Given the description of an element on the screen output the (x, y) to click on. 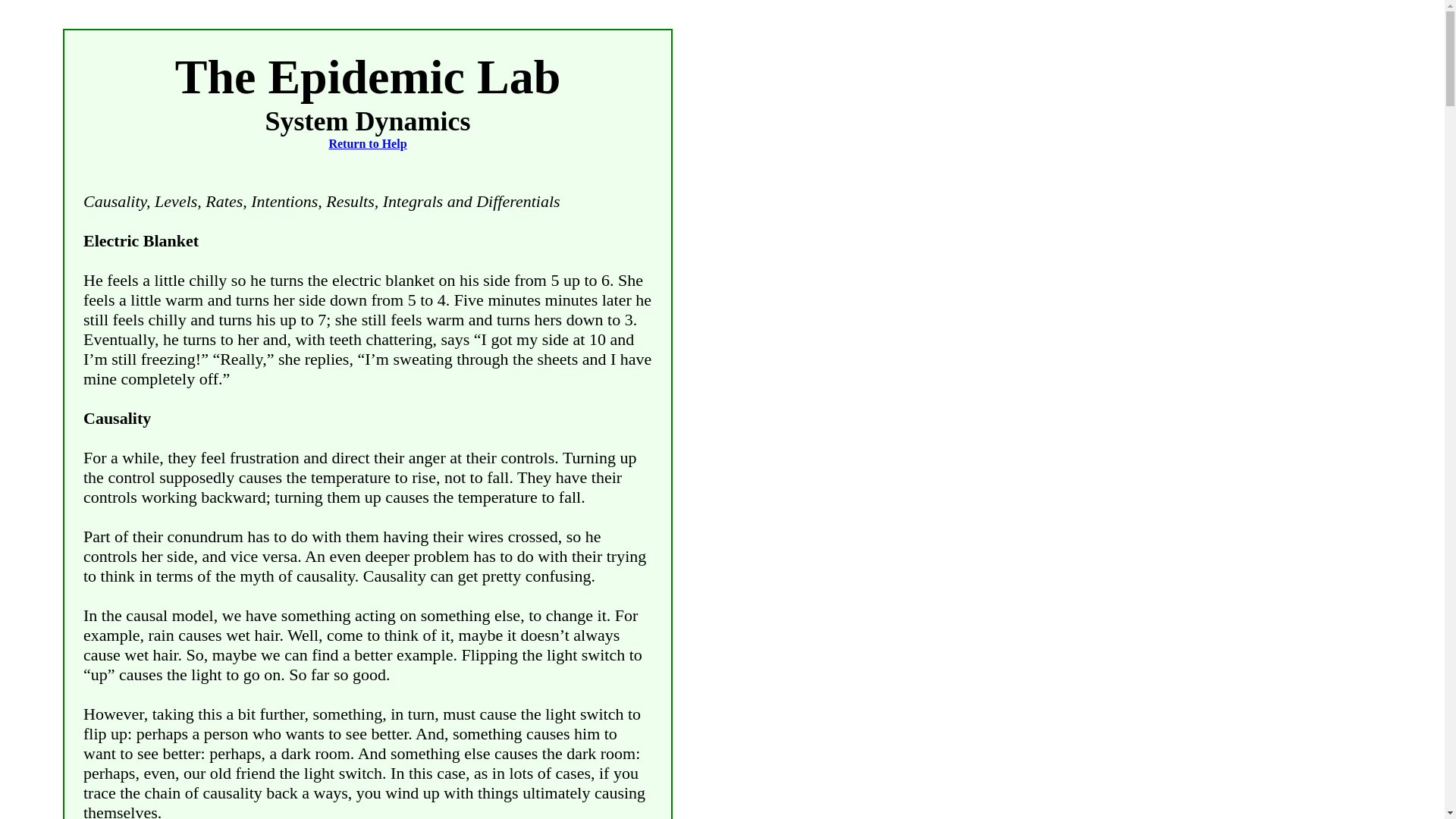
Return to Help (367, 143)
